Given the description of an element on the screen output the (x, y) to click on. 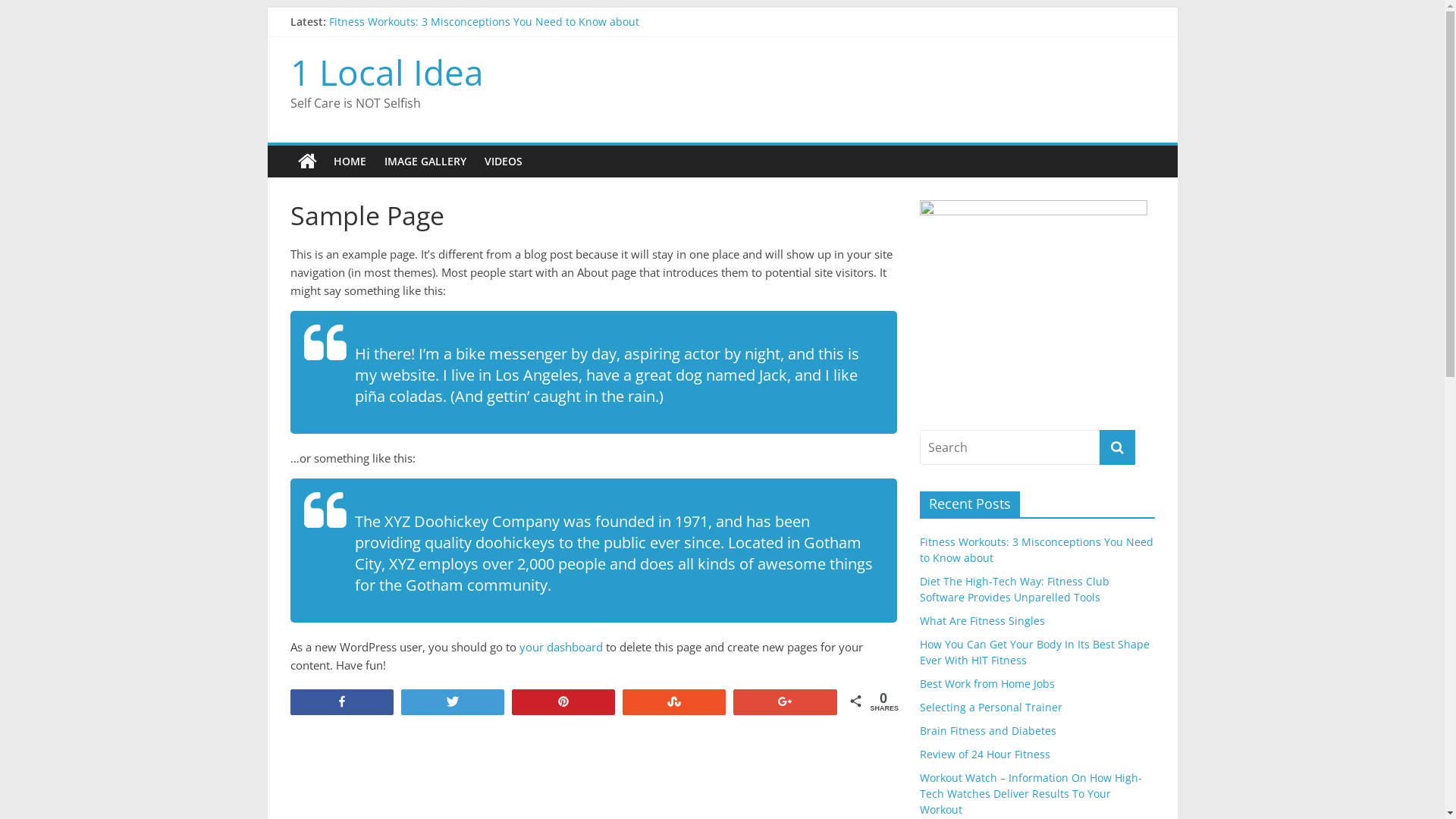
Selecting a Personal Trainer Element type: text (990, 706)
What Are Fitness Singles Element type: text (391, 55)
IMAGE GALLERY Element type: text (424, 161)
1 Local Idea Element type: hover (306, 161)
VIDEOS Element type: text (502, 161)
1 Local Idea Element type: text (386, 71)
HOME Element type: text (349, 161)
Fitness Workouts: 3 Misconceptions You Need to Know about Element type: text (484, 21)
your dashboard Element type: text (560, 646)
Best Work from Home Jobs Element type: text (396, 89)
What Are Fitness Singles Element type: text (981, 620)
Fitness Workouts: 3 Misconceptions You Need to Know about Element type: text (1035, 549)
Best Work from Home Jobs Element type: text (986, 683)
Review of 24 Hour Fitness Element type: text (984, 753)
Brain Fitness and Diabetes Element type: text (987, 730)
